Given the description of an element on the screen output the (x, y) to click on. 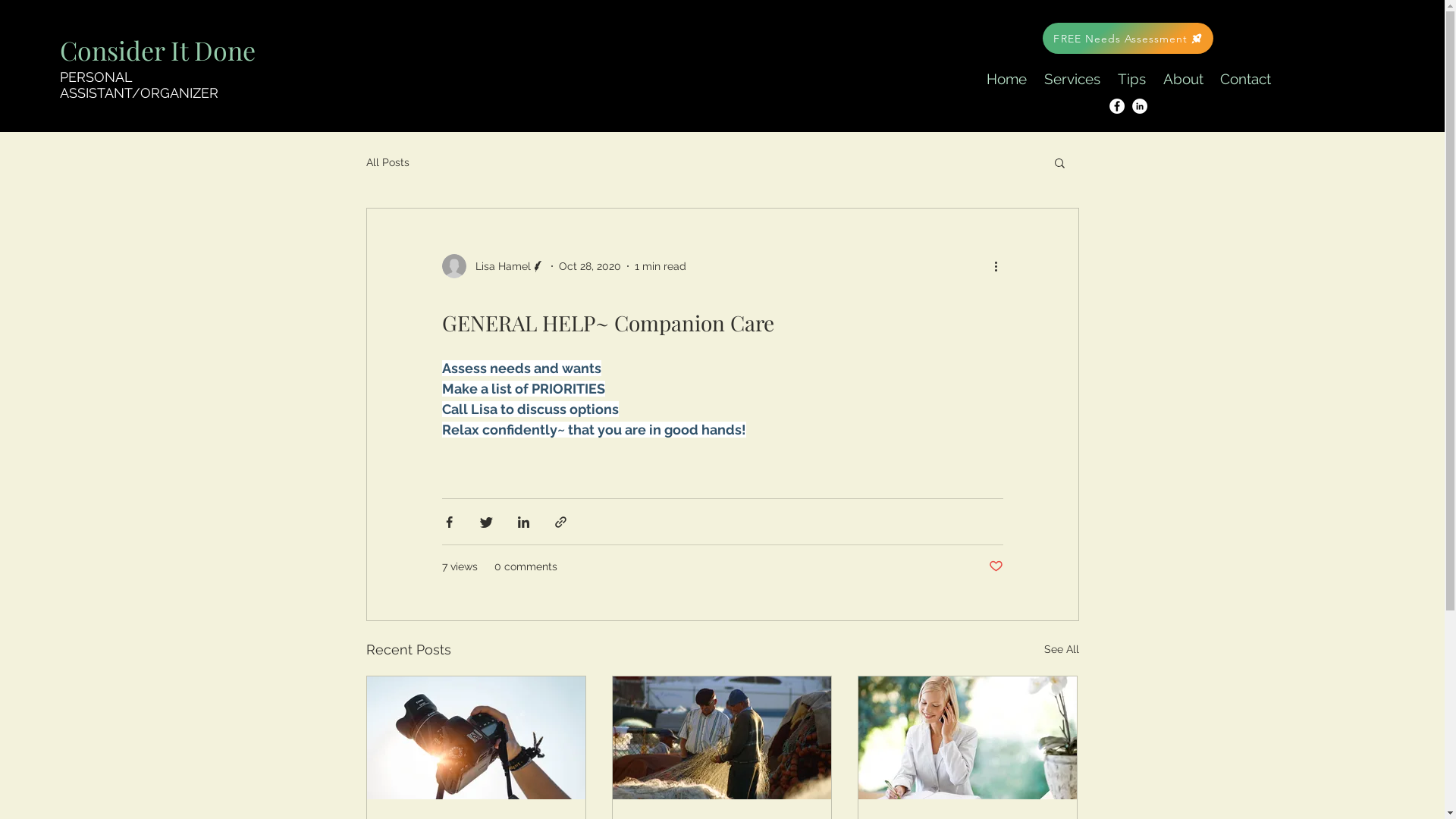
Lisa Hamel Element type: text (492, 266)
Contact Element type: text (1245, 78)
See All Element type: text (1060, 649)
Post not marked as liked Element type: text (995, 566)
FREE Needs Assessment Element type: text (1127, 37)
Consider It Done Element type: text (157, 49)
Tips Element type: text (1131, 78)
About Element type: text (1182, 78)
All Posts Element type: text (386, 162)
Home Element type: text (1006, 78)
Services Element type: text (1071, 78)
